Given the description of an element on the screen output the (x, y) to click on. 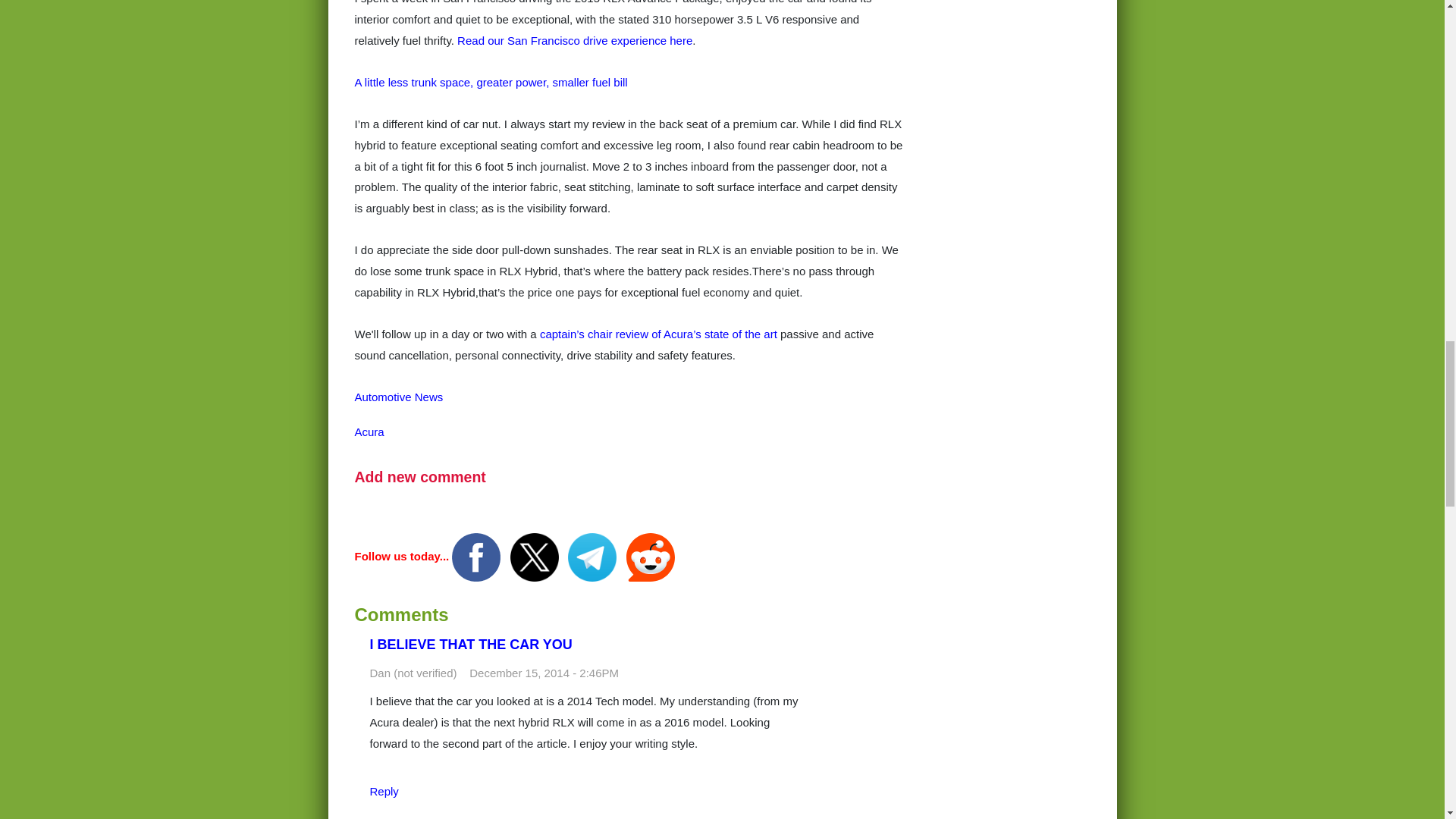
Join us on Reddit! (650, 555)
Read our San Francisco drive experience here (575, 40)
A little less trunk space, greater power, smaller fuel bill (491, 82)
Join us on Telegram! (593, 555)
I BELIEVE THAT THE CAR YOU (470, 644)
Automotive News (399, 396)
Acura (369, 431)
Add new comment (420, 476)
Reply (383, 790)
Share your thoughts and opinions. (420, 476)
